Given the description of an element on the screen output the (x, y) to click on. 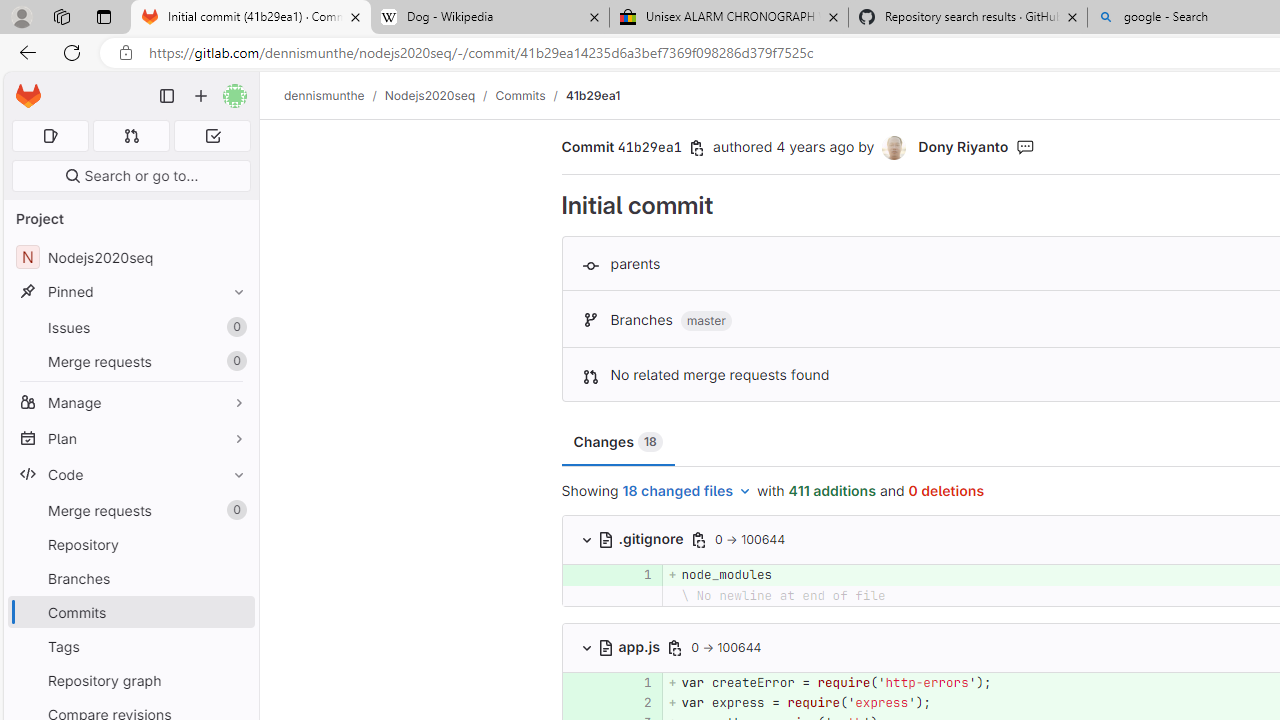
Unpin Issues (234, 327)
